Given the description of an element on the screen output the (x, y) to click on. 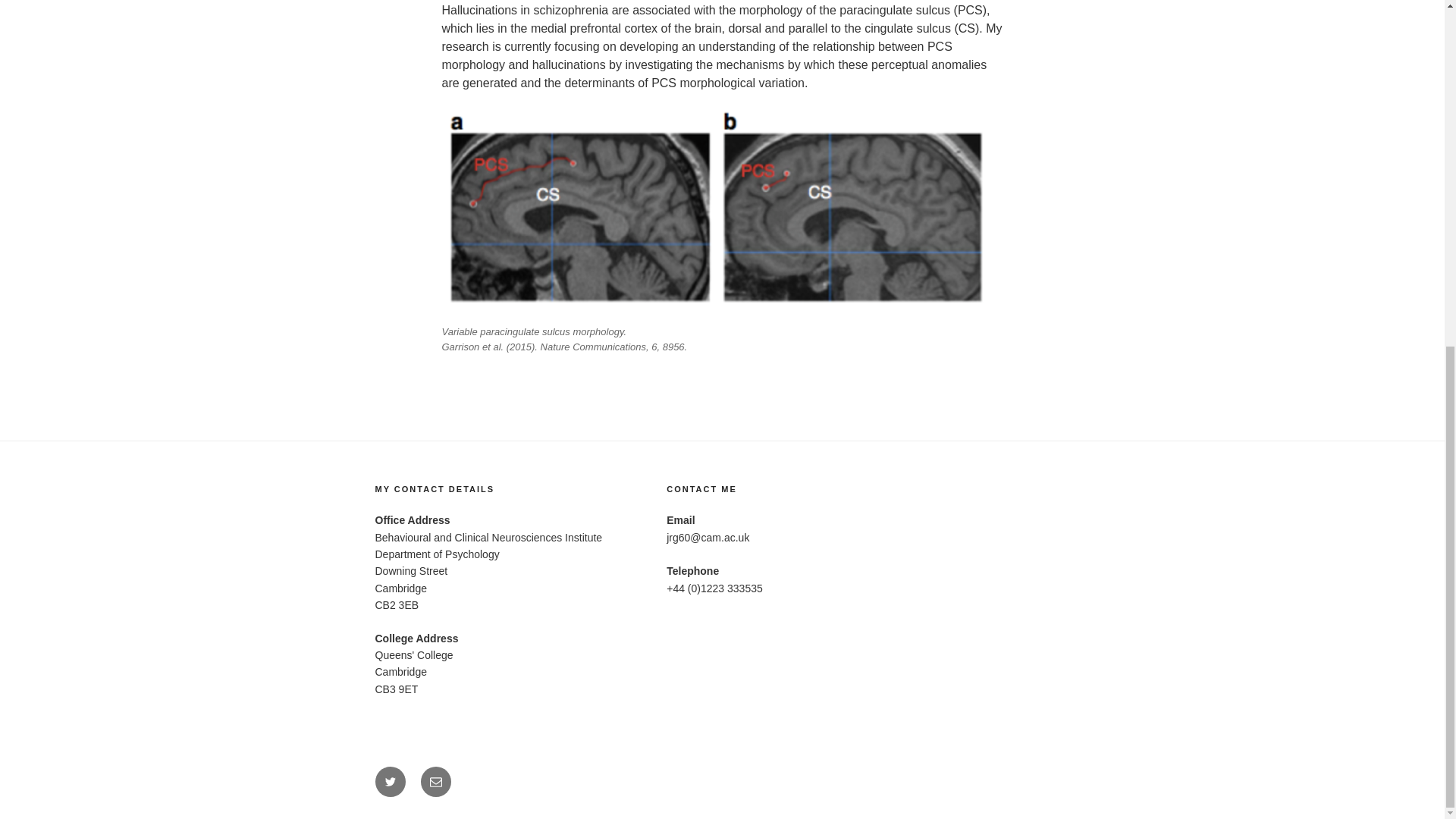
Twitter (389, 781)
Email (435, 781)
